Given the description of an element on the screen output the (x, y) to click on. 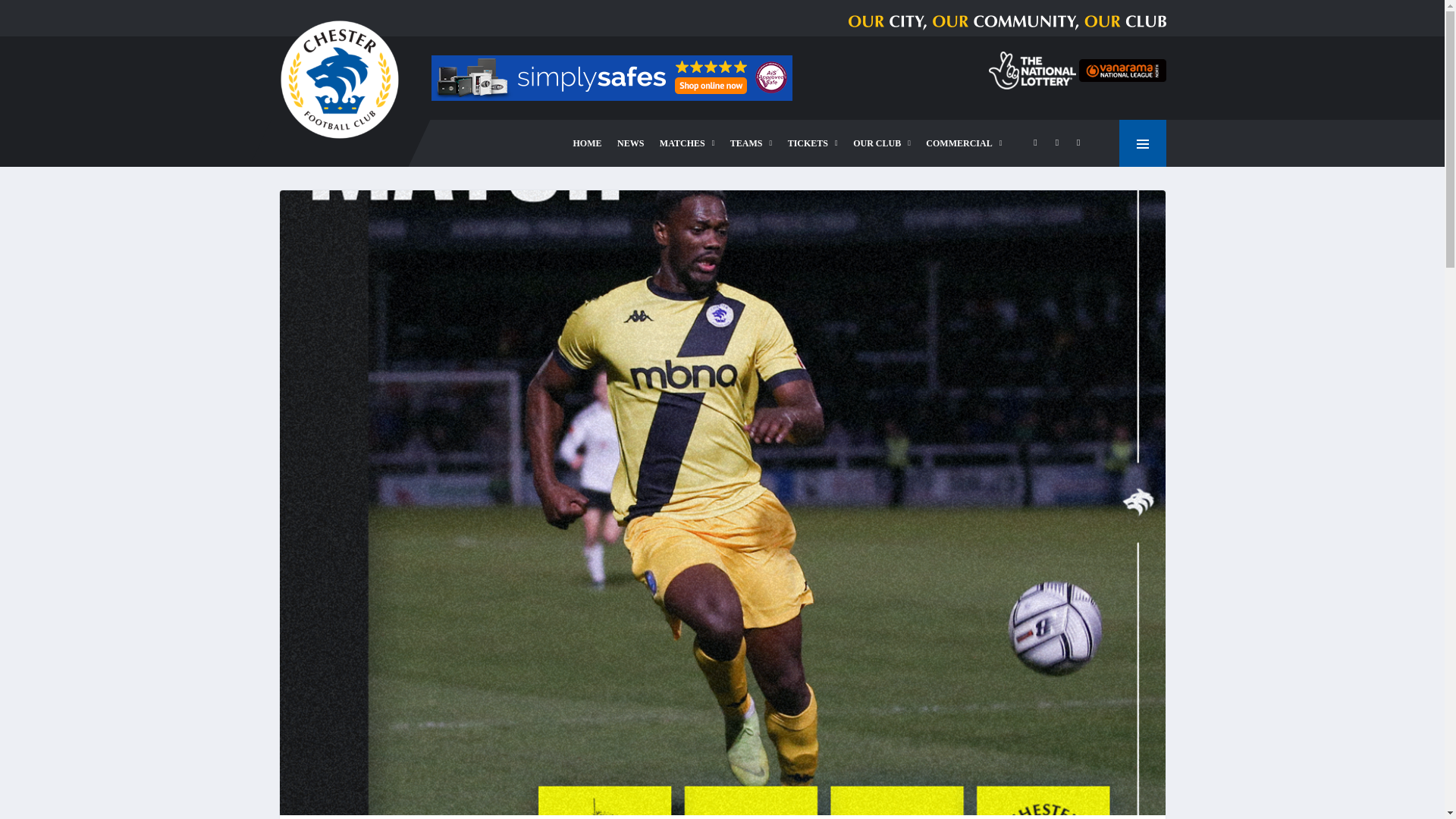
MATCHES (686, 143)
OUR CLUB (882, 143)
NEWS (630, 143)
TICKETS (812, 143)
TEAMS (750, 143)
HOME (587, 143)
